Given the description of an element on the screen output the (x, y) to click on. 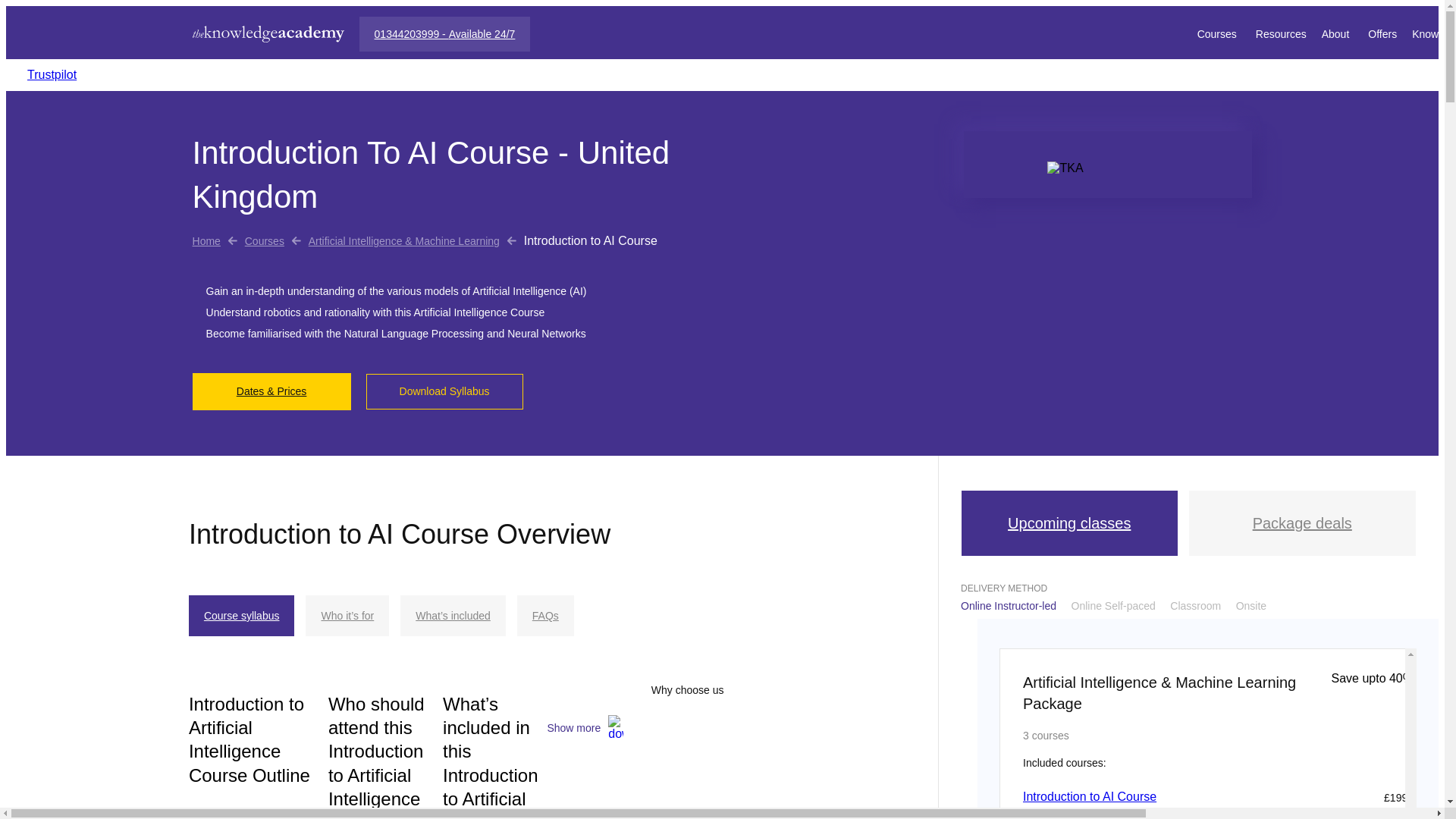
Resources (1280, 33)
Download Syllabus (444, 391)
Offers (1382, 33)
Courses (1218, 33)
Trustpilot (52, 74)
Home (206, 241)
Courses (263, 241)
FAQs (544, 615)
Course syllabus (242, 615)
KnowledgePass (1434, 33)
